Given the description of an element on the screen output the (x, y) to click on. 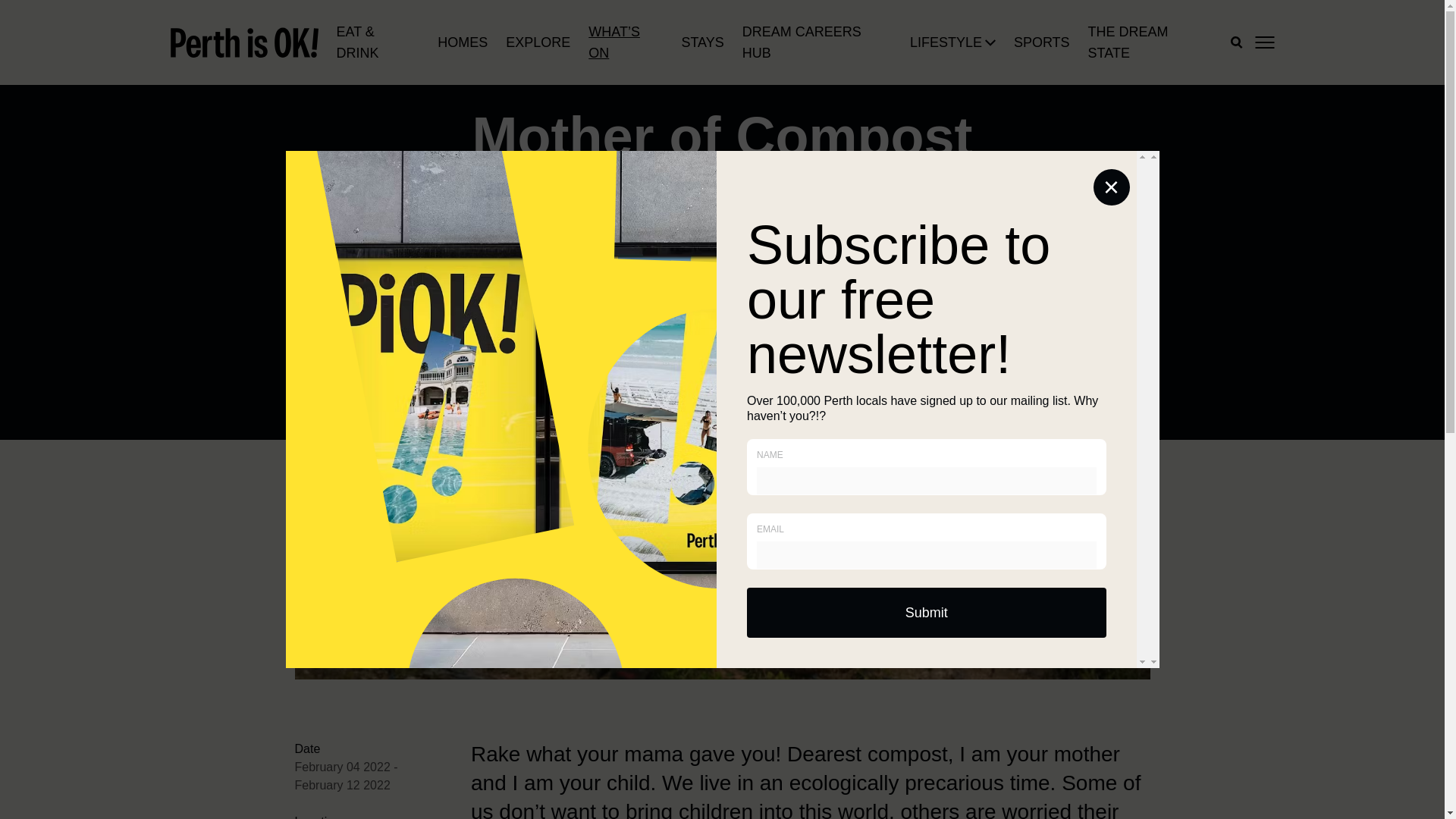
EXPLORE (537, 42)
DREAM CAREERS HUB (816, 42)
Submit (926, 613)
HOMES (462, 42)
THE DREAM STATE (1149, 42)
LIFESTYLE (945, 42)
SPORTS (1041, 42)
STAYS (702, 42)
Submit (926, 613)
